Given the description of an element on the screen output the (x, y) to click on. 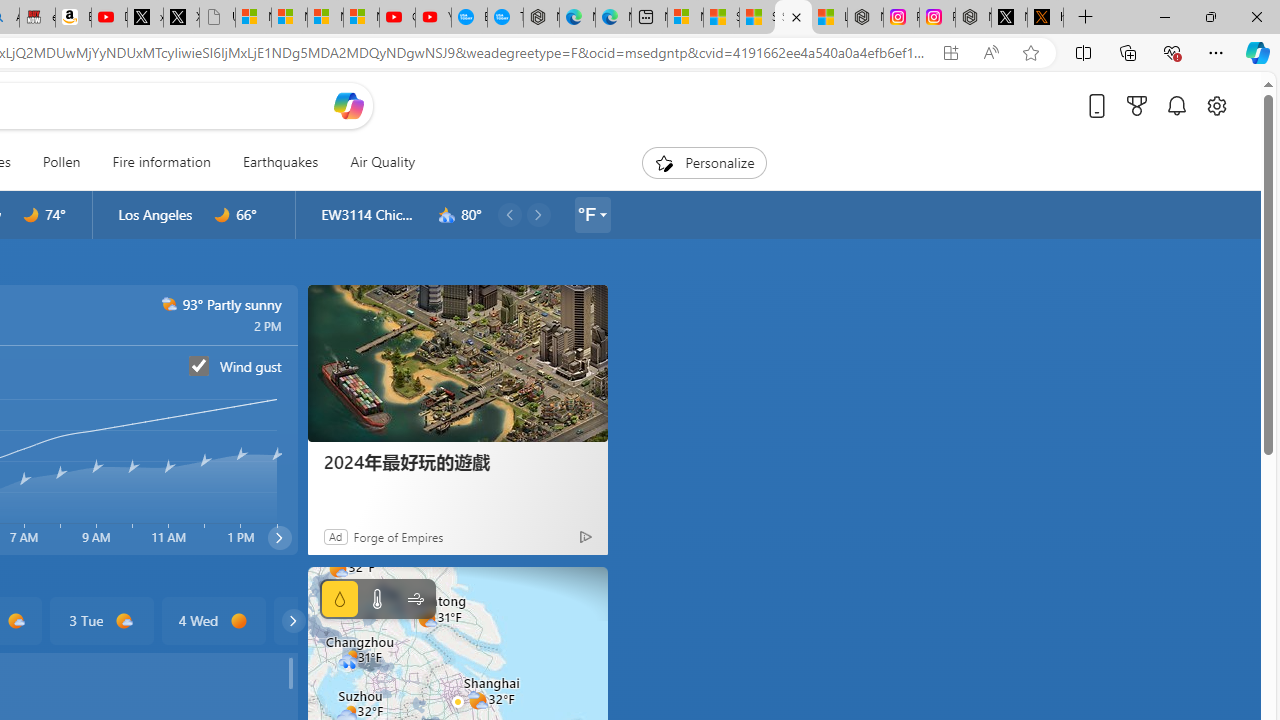
d0000 (239, 621)
Day 1: Arriving in Yemen (surreal to be here) - YouTube (109, 17)
Air Quality (375, 162)
n3200 (447, 215)
Fire information (161, 162)
Microsoft rewards (1137, 105)
